Given the description of an element on the screen output the (x, y) to click on. 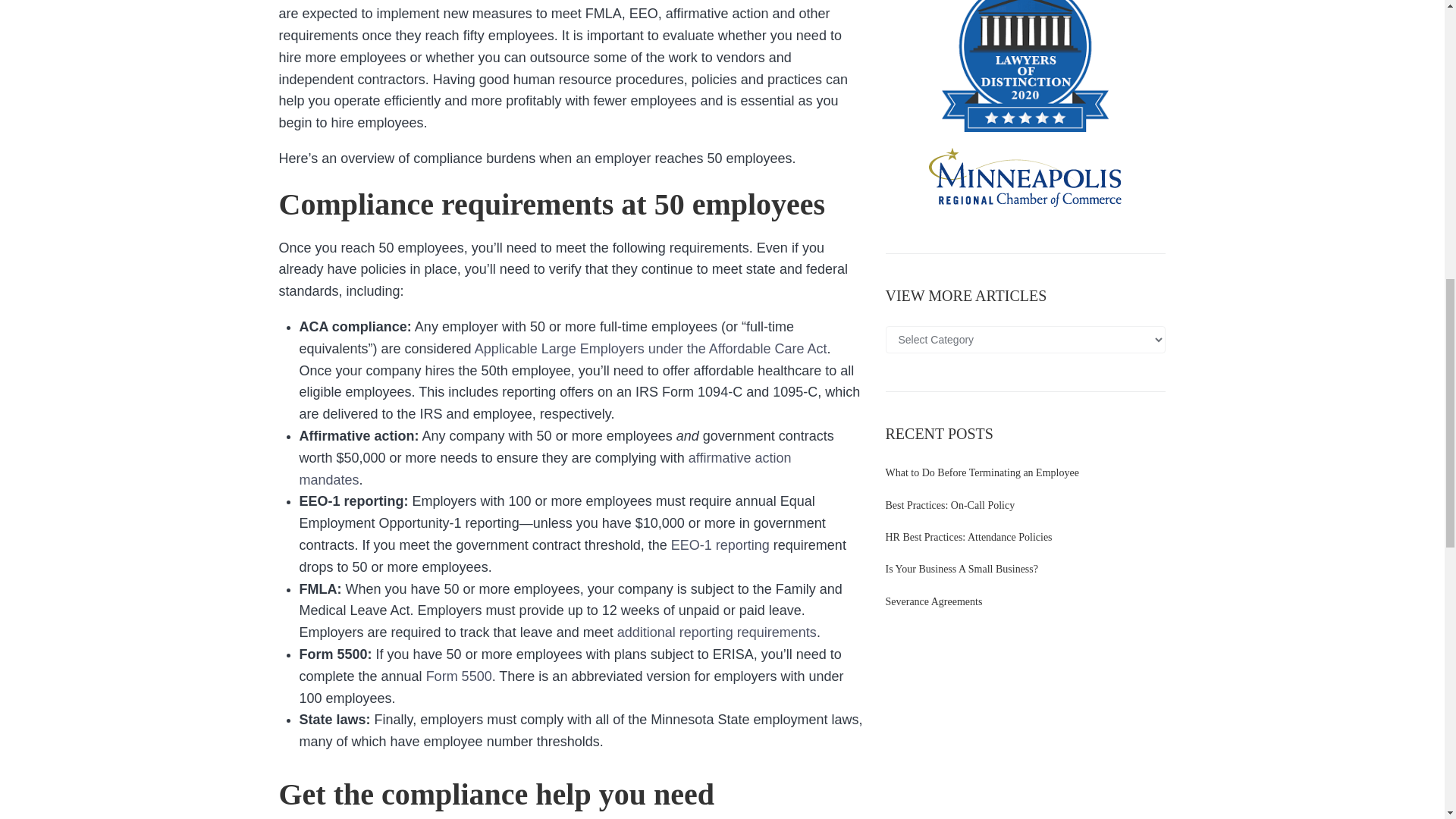
affirmative action mandates (544, 468)
EEO-1 reporting (720, 544)
Applicable Large Employers under the Affordable Care Act (650, 348)
Form 5500 (459, 676)
additional reporting requirements (716, 631)
